Given the description of an element on the screen output the (x, y) to click on. 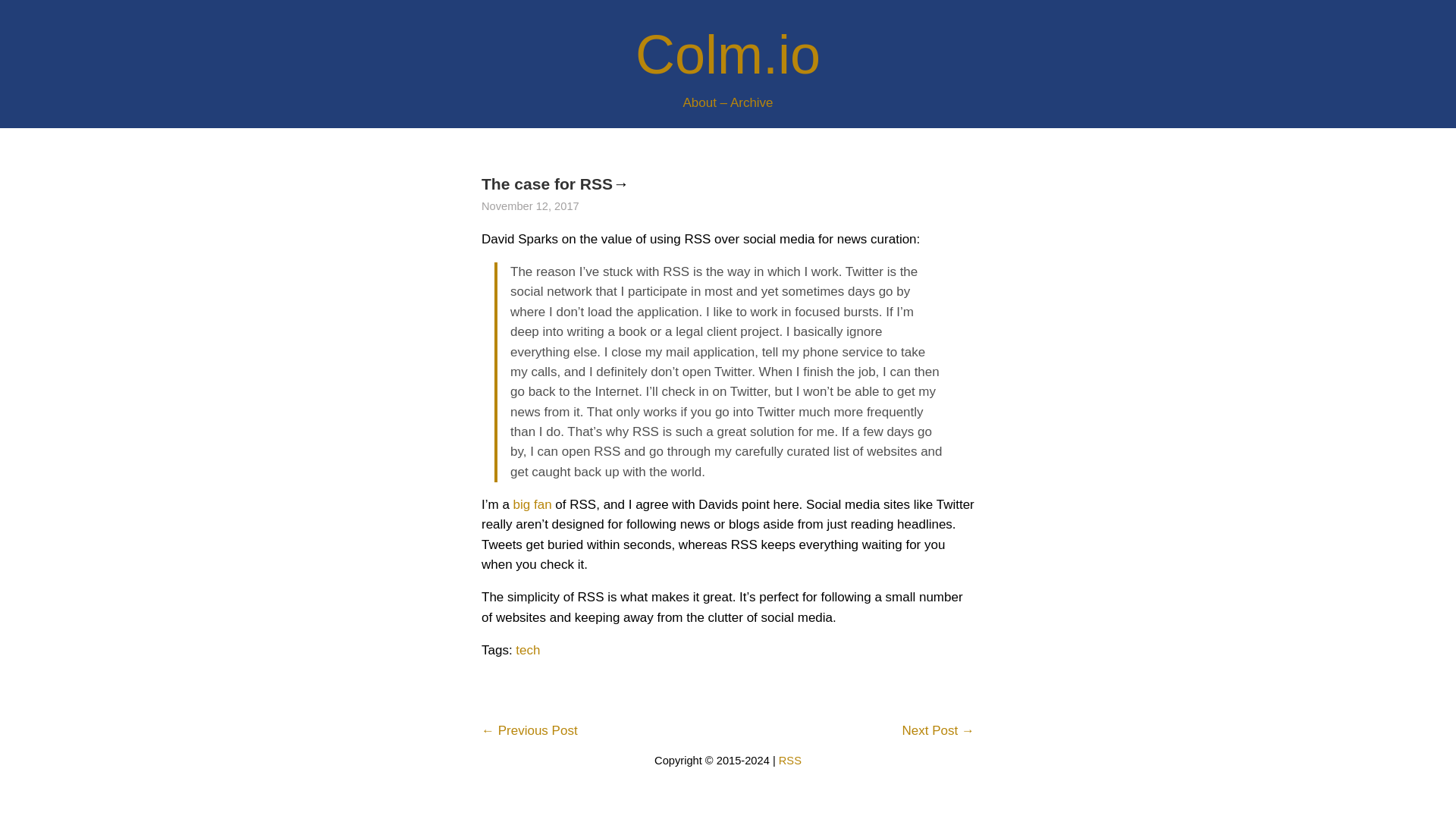
About (699, 102)
Archive (751, 102)
big fan (532, 504)
tech (527, 649)
RSS (790, 760)
Colm.io (727, 54)
The case for RSS (546, 183)
